Given the description of an element on the screen output the (x, y) to click on. 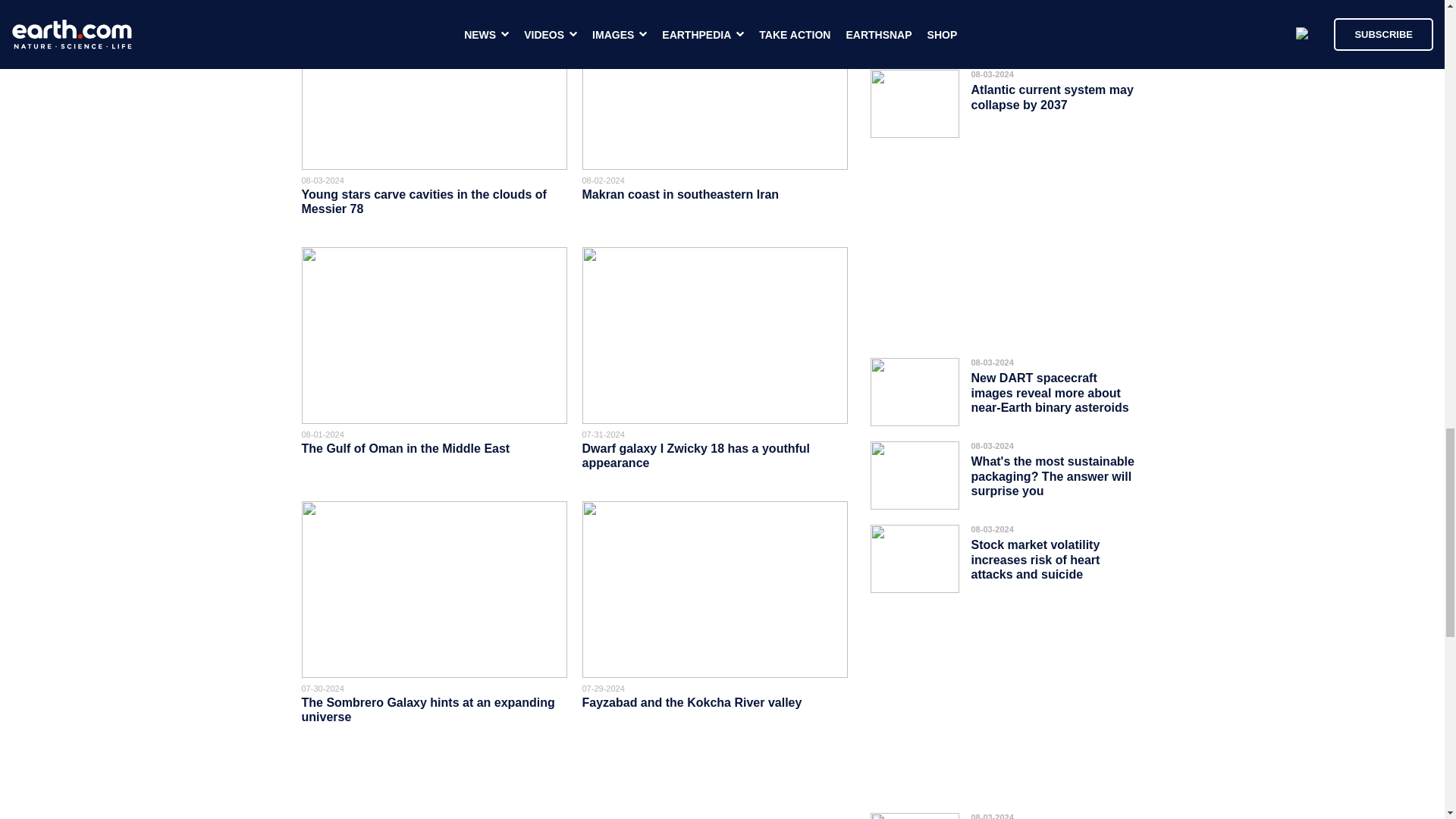
Young stars carve cavities in the clouds of Messier 78 (424, 201)
The Sombrero Galaxy hints at an expanding universe  (427, 709)
The Gulf of Oman in the Middle East (406, 448)
Makran coast in southeastern Iran (680, 194)
Dwarf galaxy I Zwicky 18 has a youthful appearance (696, 455)
Fayzabad and the Kokcha River valley  (693, 702)
